Given the description of an element on the screen output the (x, y) to click on. 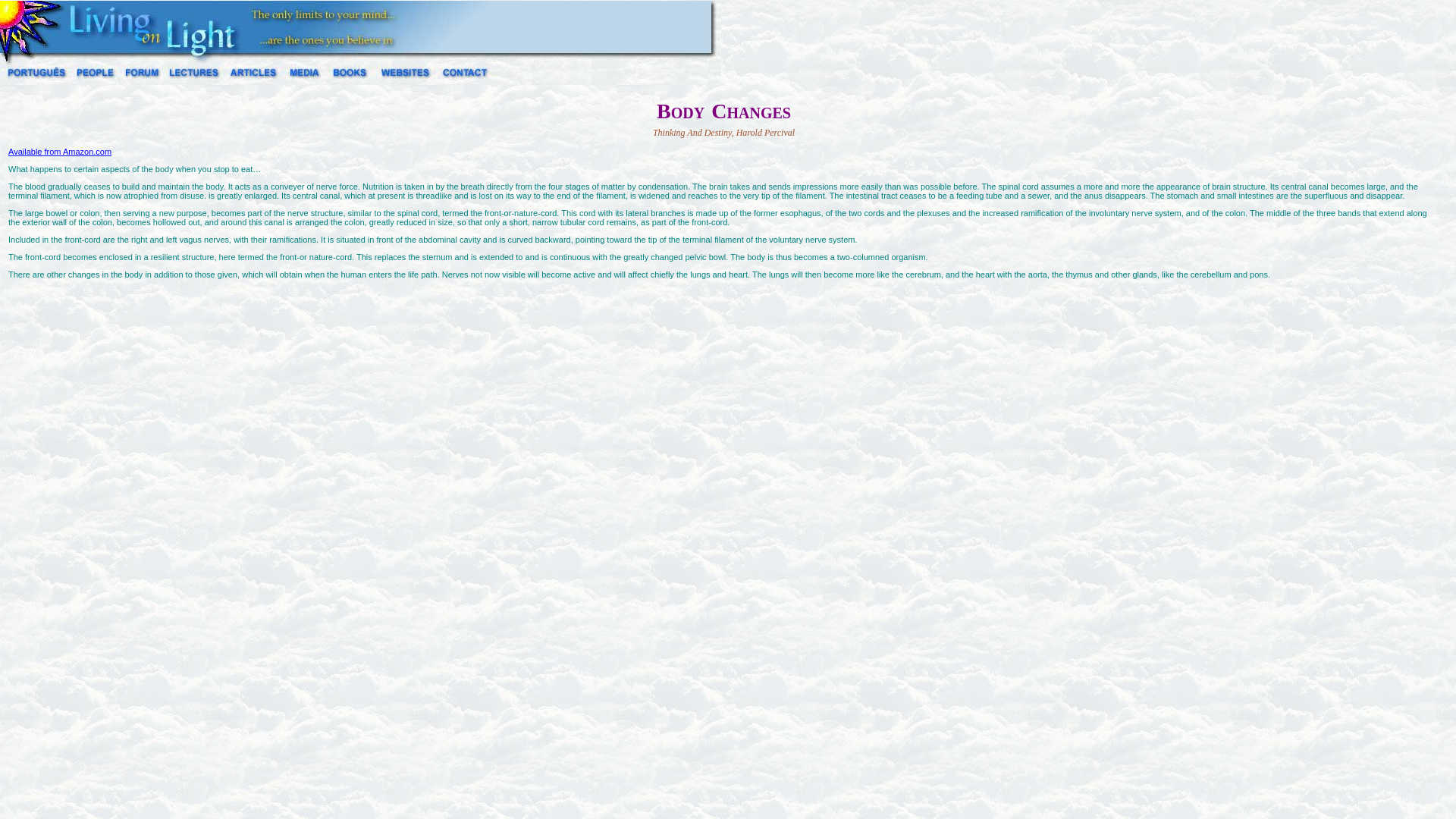
Available from Amazon.com (60, 151)
